Given the description of an element on the screen output the (x, y) to click on. 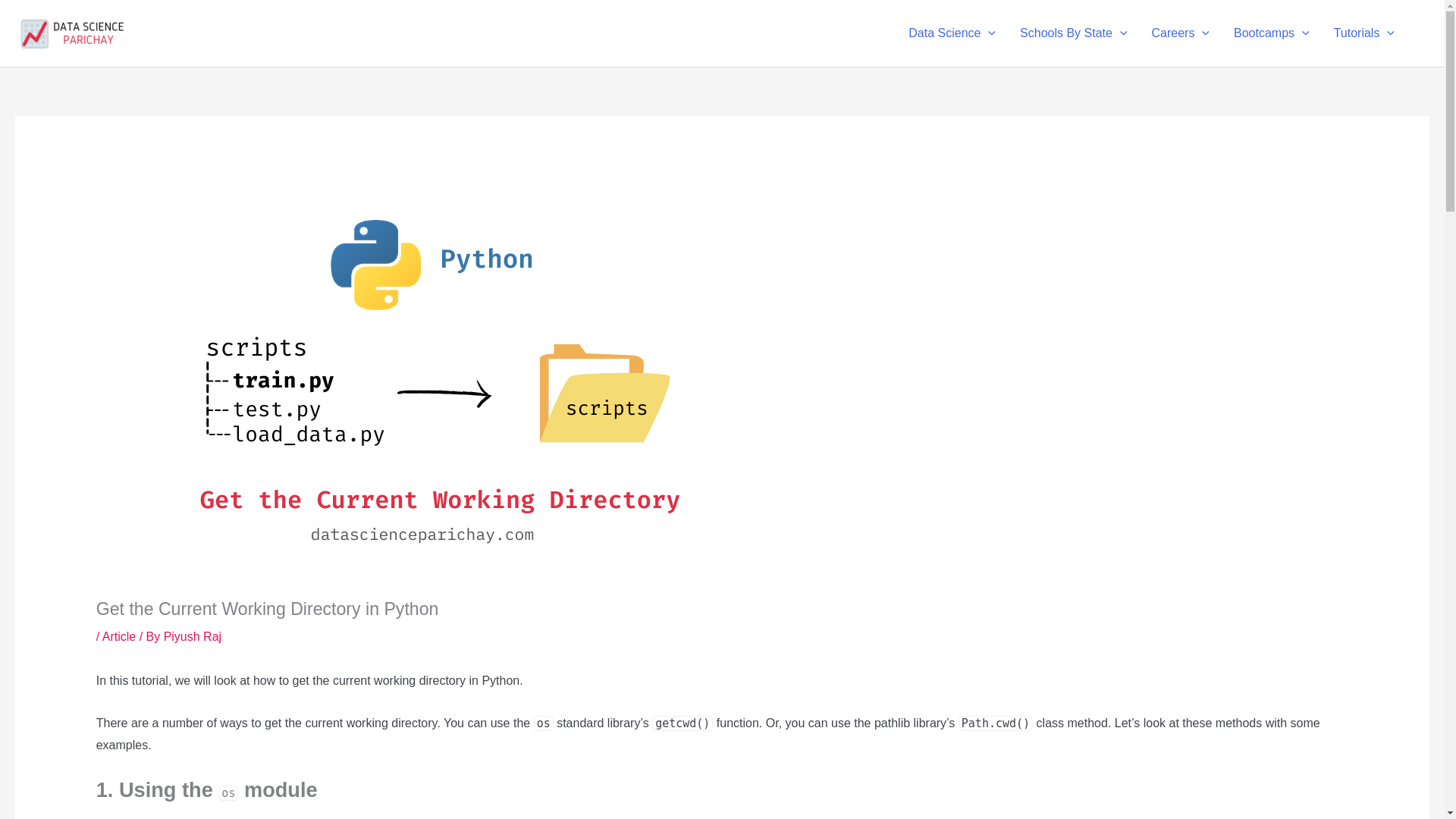
Bootcamps (1271, 32)
Data Science (951, 32)
Schools By State (1072, 32)
View all posts by Piyush Raj (192, 635)
Careers (1179, 32)
